Given the description of an element on the screen output the (x, y) to click on. 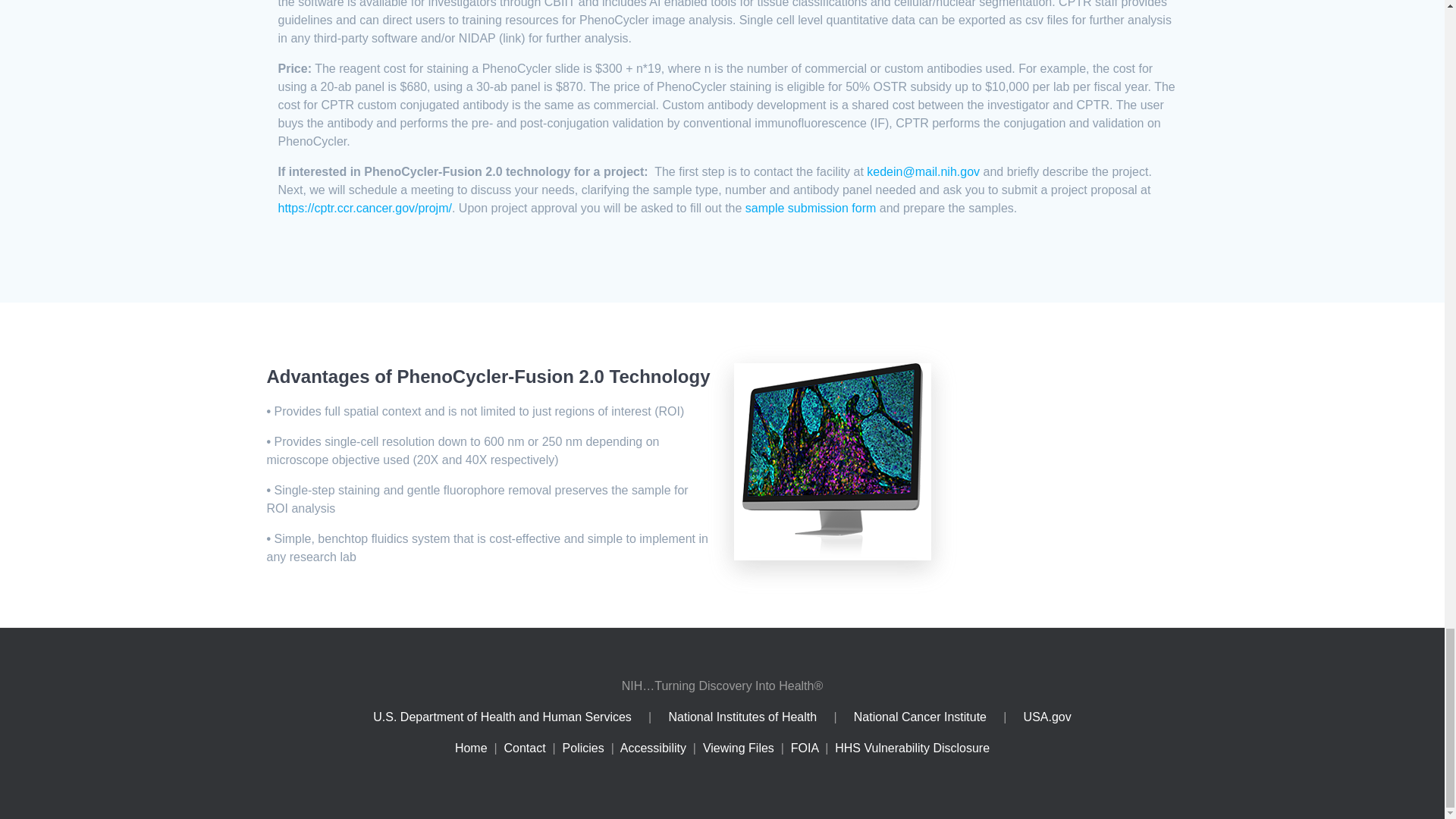
Contact (524, 748)
Policies (583, 748)
image-analyze (832, 461)
National Cancer Institute (920, 716)
Home (470, 748)
Accessibility (652, 748)
U.S. Department of Health and Human Services (501, 716)
sample submission form (810, 208)
National Institutes of Health  (743, 716)
USA.gov (1047, 716)
